Given the description of an element on the screen output the (x, y) to click on. 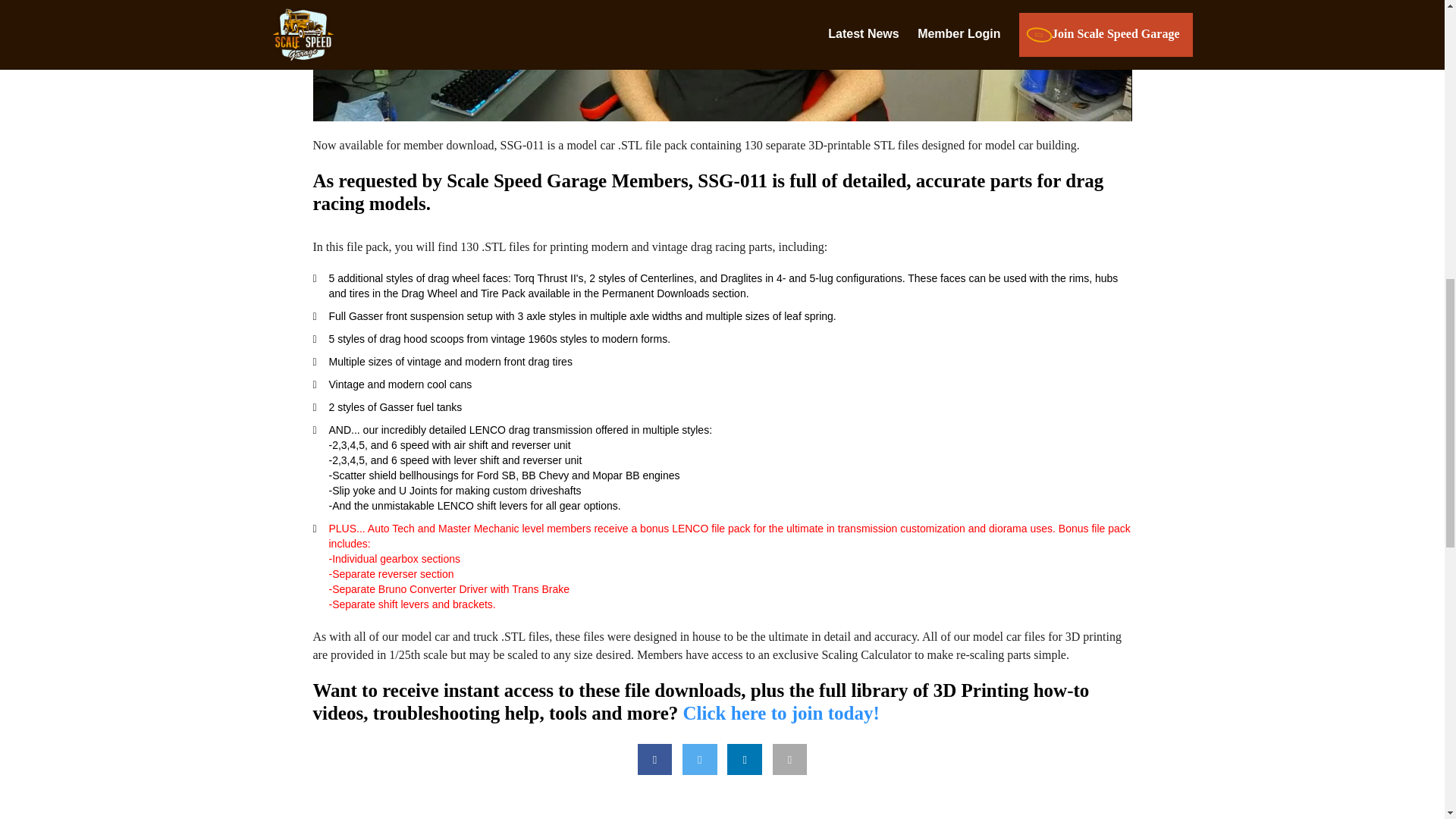
Click here to join today! (780, 712)
